Given the description of an element on the screen output the (x, y) to click on. 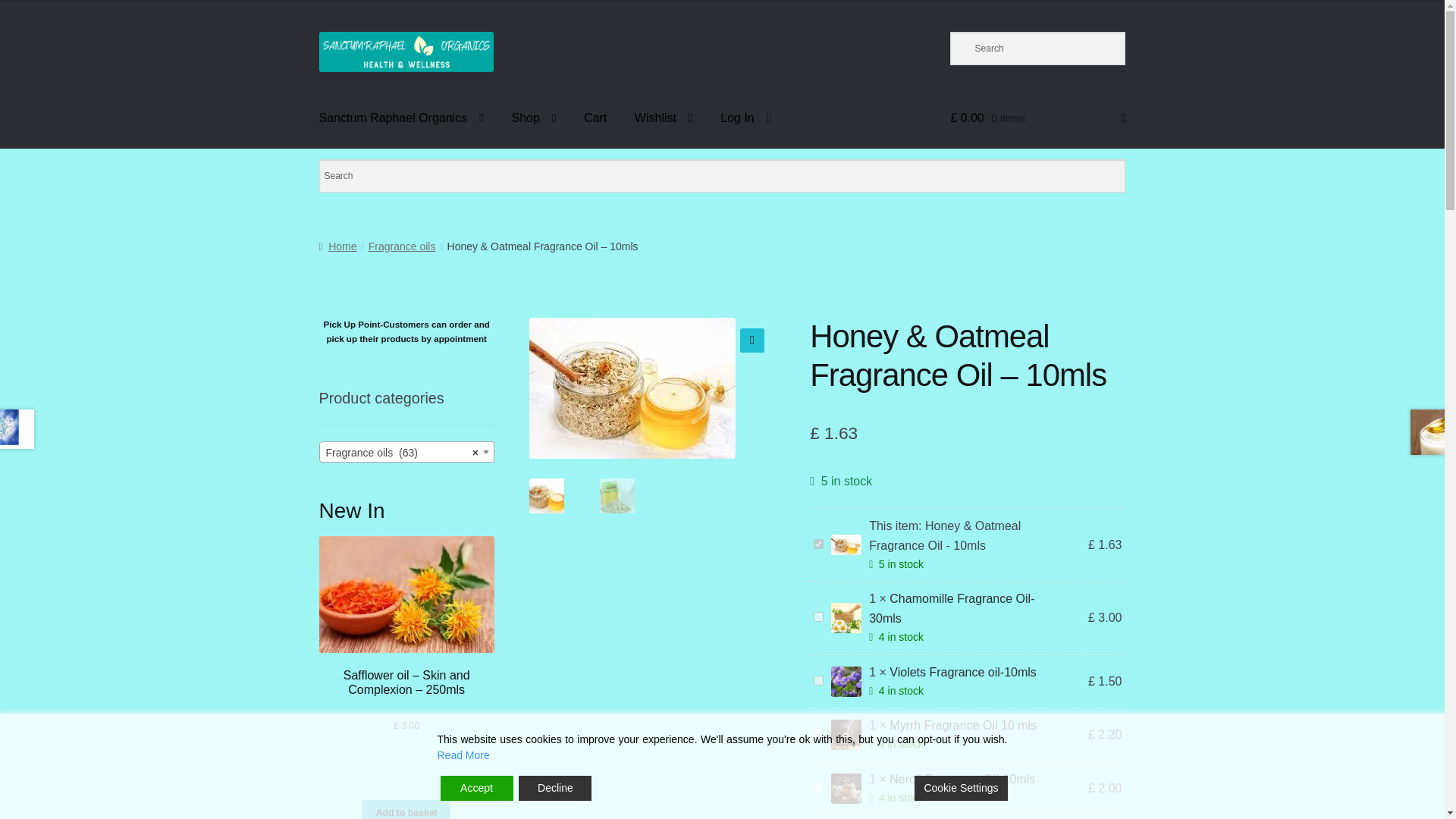
on (818, 543)
Shop (533, 118)
Log In (745, 118)
View your shopping basket (1037, 118)
Wishlist (663, 118)
2458 (818, 787)
Sanctum Raphael Organics (401, 118)
2236 (818, 680)
2232 (818, 733)
2195 (818, 616)
